Given the description of an element on the screen output the (x, y) to click on. 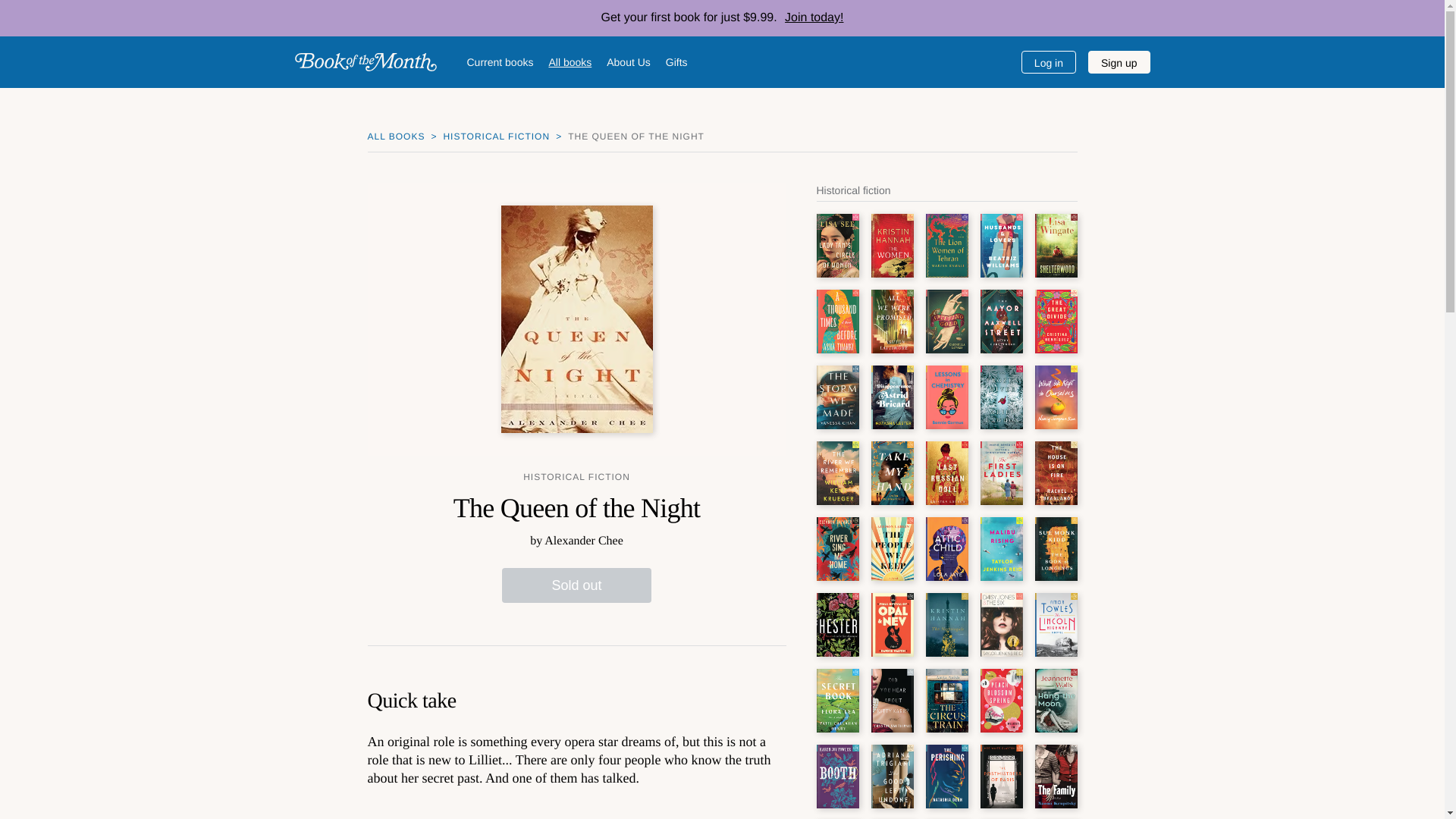
Join today! (811, 17)
Current books (500, 61)
Log in (1048, 61)
Sign up (1118, 61)
